Given the description of an element on the screen output the (x, y) to click on. 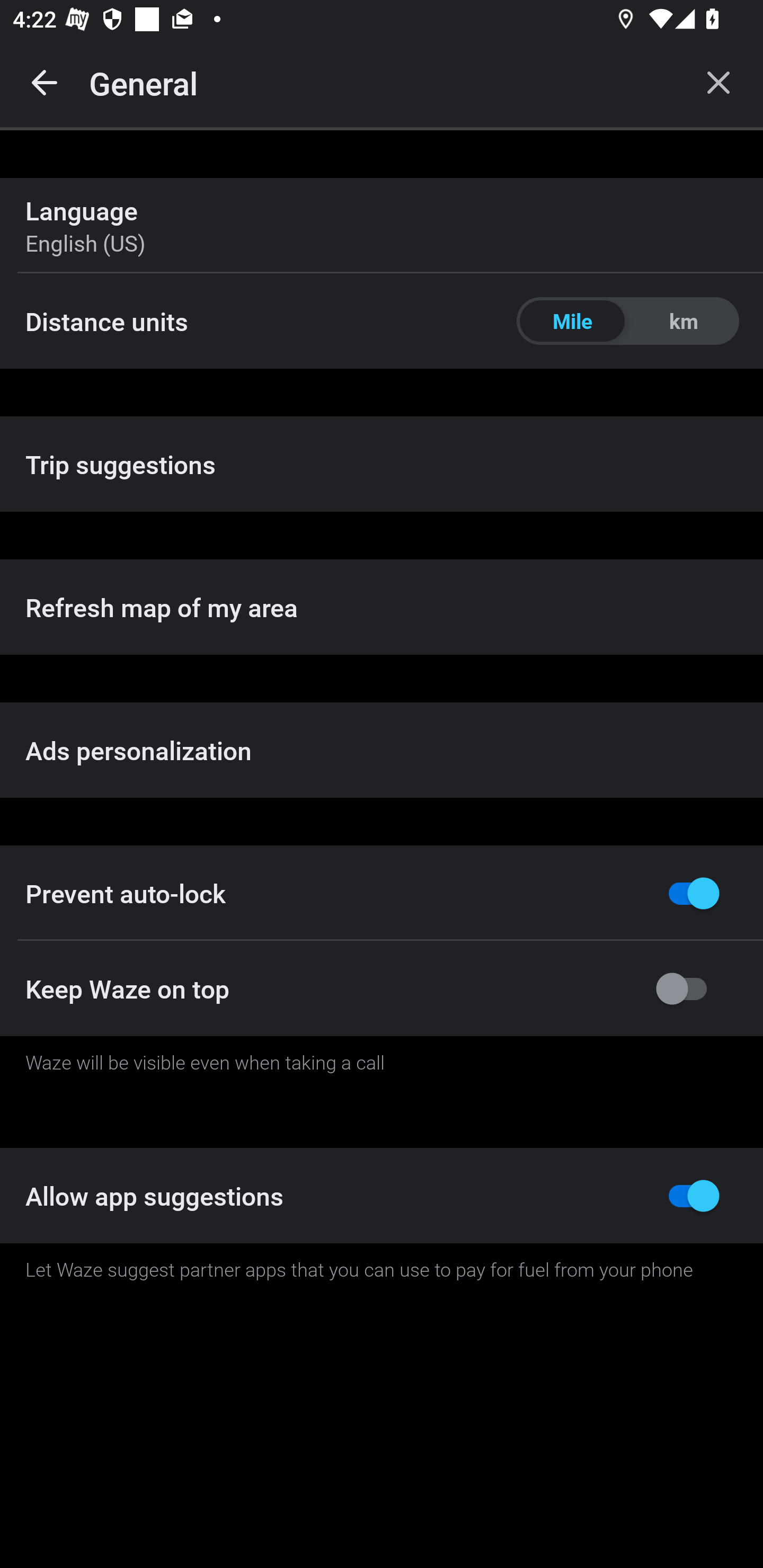
Trip suggestions generalSettingsTripForecastsLabel (381, 464)
Ads personalization generalSettingsAdSettingsLabel (381, 750)
ACTION_CELL_ICON Shut off ACTION_CELL_TEXT (381, 891)
Keep Waze on top generalSettingsKeepWazeOnTopLabel (381, 988)
